Given the description of an element on the screen output the (x, y) to click on. 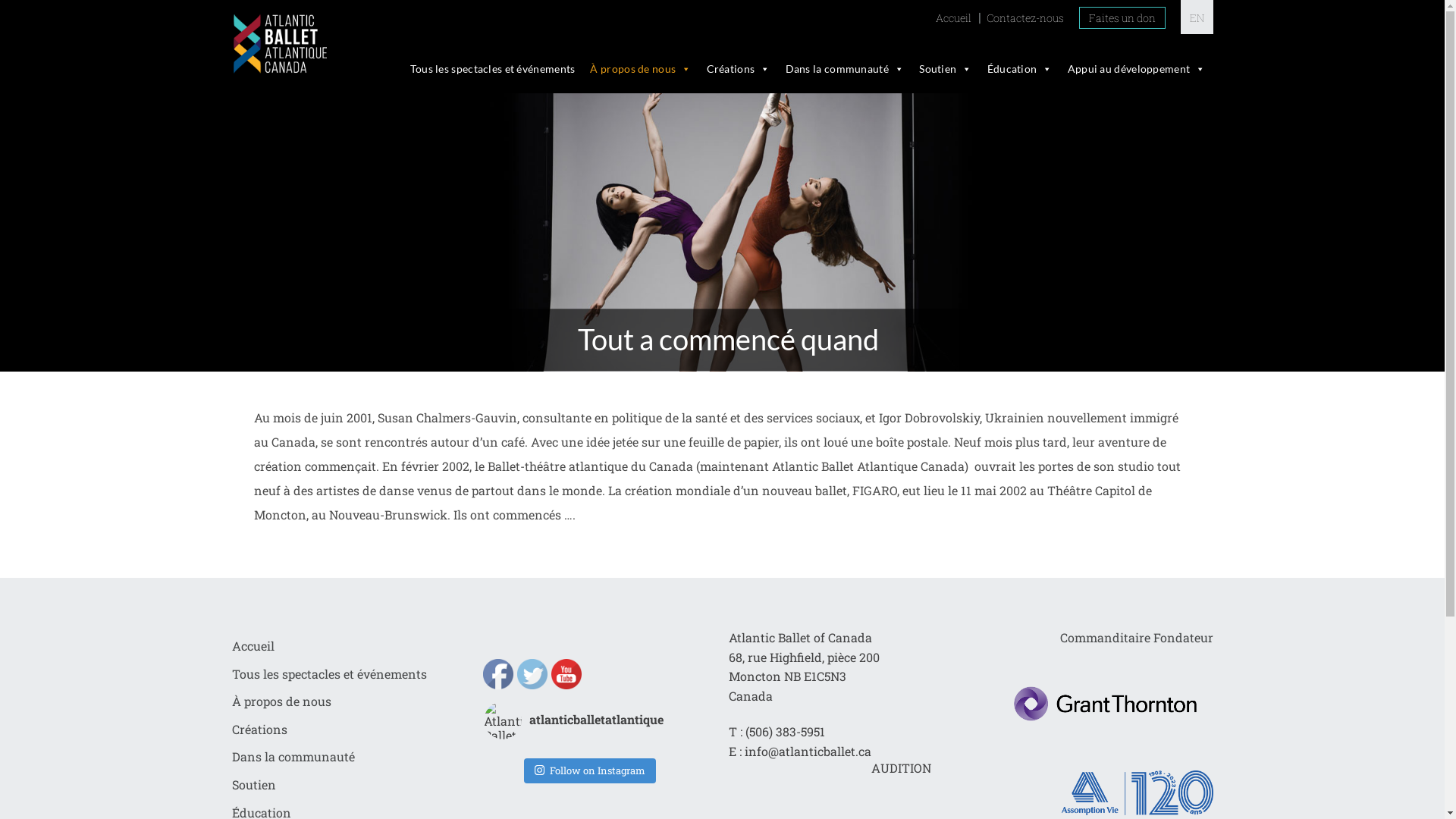
Twitter Element type: hover (532, 673)
Soutien Element type: text (254, 784)
T : (506) 383-5951 Element type: text (776, 731)
Accueil Element type: text (953, 17)
E : info@atlanticballet.ca Element type: text (799, 751)
Contactez-nous Element type: text (1024, 17)
Faites un don Element type: text (1121, 17)
Facebook Element type: hover (498, 673)
AUDITION Element type: text (901, 768)
Soutien Element type: text (945, 68)
Follow on Instagram Element type: text (589, 771)
EN Element type: text (1196, 17)
Accueil Element type: text (253, 645)
YouTube Element type: hover (566, 673)
atlanticballetatlantique Element type: text (587, 720)
